Given the description of an element on the screen output the (x, y) to click on. 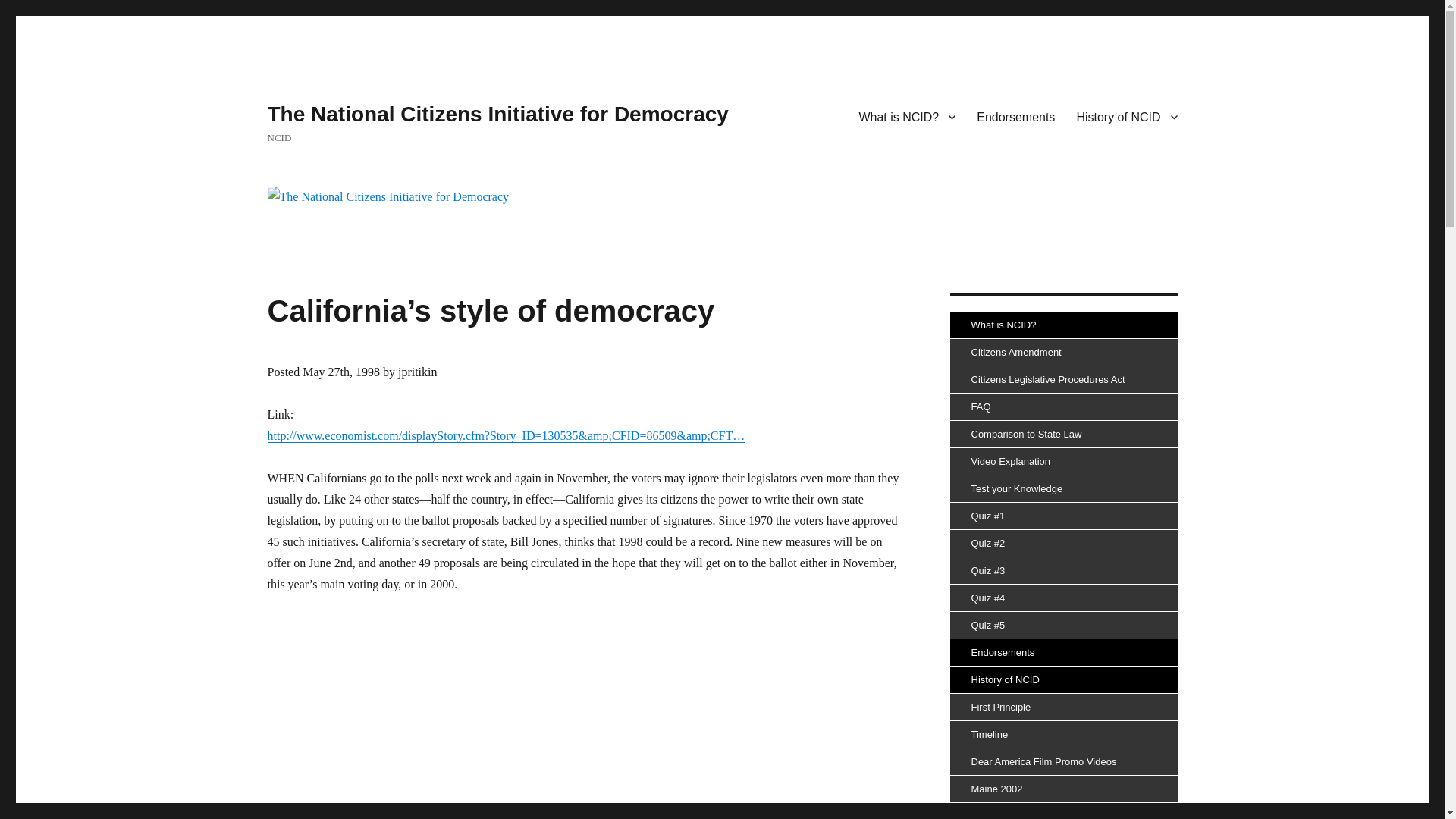
History of NCID (1126, 116)
The National Citizens Initiative for Democracy (497, 114)
What is NCID? (906, 116)
Endorsements (1015, 116)
